Given the description of an element on the screen output the (x, y) to click on. 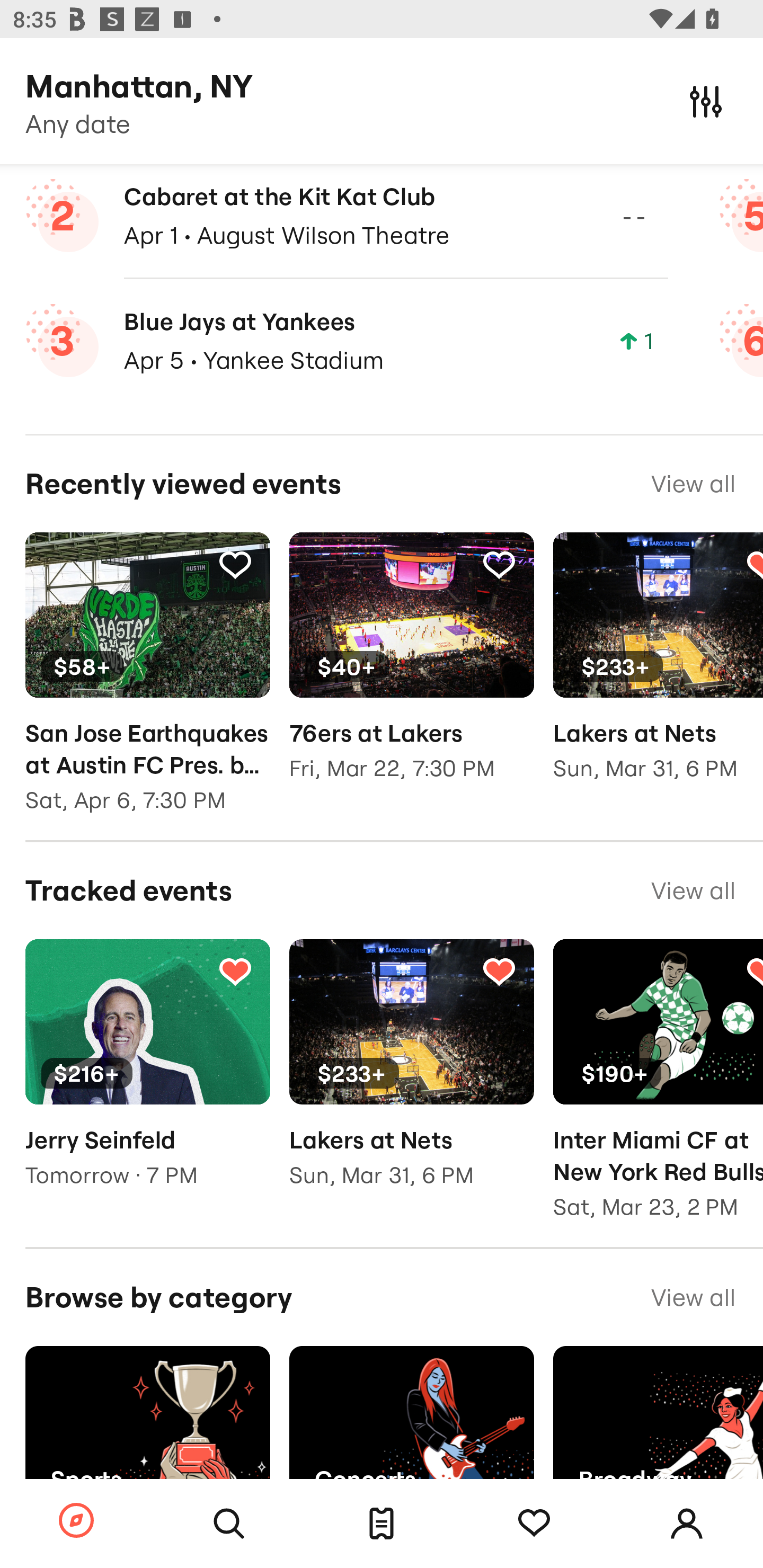
Filters (705, 100)
View all (693, 484)
Tracking $40+ 76ers at Lakers Fri, Mar 22, 7:30 PM (411, 670)
Tracking $233+ Lakers at Nets Sun, Mar 31, 6 PM (658, 670)
Tracking (234, 564)
Tracking (498, 564)
View all (693, 890)
Tracking $216+ Jerry Seinfeld Tomorrow · 7 PM (147, 1076)
Tracking $233+ Lakers at Nets Sun, Mar 31, 6 PM (411, 1076)
Tracking (234, 970)
Tracking (498, 970)
View all (693, 1297)
Sports (147, 1428)
Concerts (411, 1428)
Broadway (658, 1428)
Browse (76, 1521)
Search (228, 1523)
Tickets (381, 1523)
Tracking (533, 1523)
Account (686, 1523)
